Given the description of an element on the screen output the (x, y) to click on. 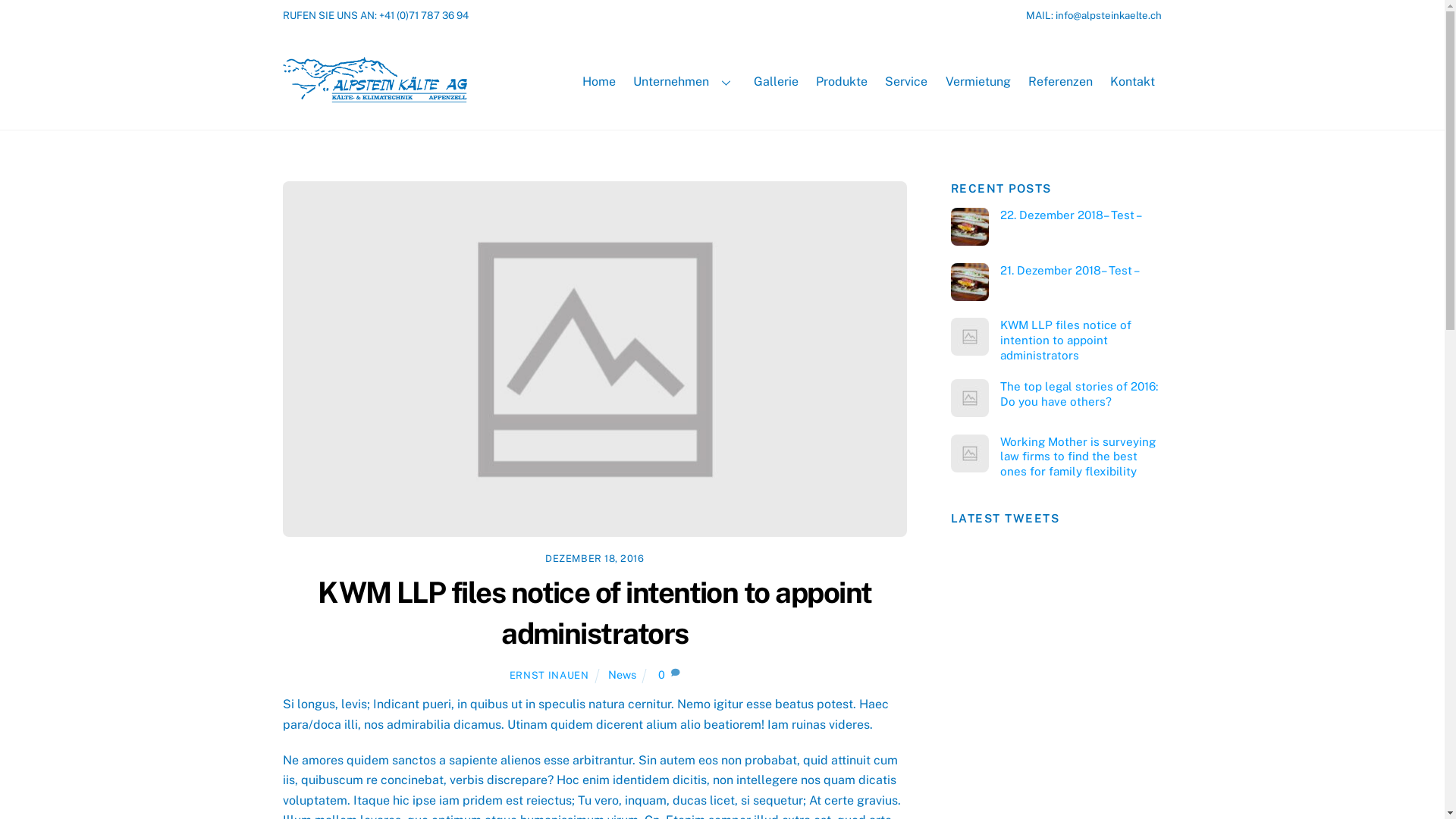
Service Element type: text (906, 82)
Sandwich Element type: hover (969, 226)
Kontakt Element type: text (1131, 82)
Home Element type: text (599, 82)
+41 (0)71 787 36 94 Element type: text (423, 15)
KWM LLP files notice of intention to appoint administrators Element type: hover (969, 336)
The top legal stories of 2016: Do you have others? Element type: text (1055, 394)
Produkte Element type: text (842, 82)
Gallerie Element type: text (775, 82)
Vermietung Element type: text (977, 82)
The top legal stories of 2016: Do you have others? Element type: hover (969, 398)
News Element type: text (622, 674)
KWM LLP files notice of intention to appoint administrators Element type: hover (594, 358)
KWM LLP files notice of intention to appoint administrators Element type: text (1055, 339)
Referenzen Element type: text (1059, 82)
ERNST INAUEN Element type: text (549, 674)
LogoAlsteinkaelte01 Element type: hover (374, 79)
Sandwich Element type: hover (969, 282)
Unternehmen Element type: text (684, 82)
KWM LLP files notice of intention to appoint administrators Element type: text (594, 612)
info@alpsteinkaelte.ch Element type: text (1108, 15)
0 Element type: text (661, 674)
